Given the description of an element on the screen output the (x, y) to click on. 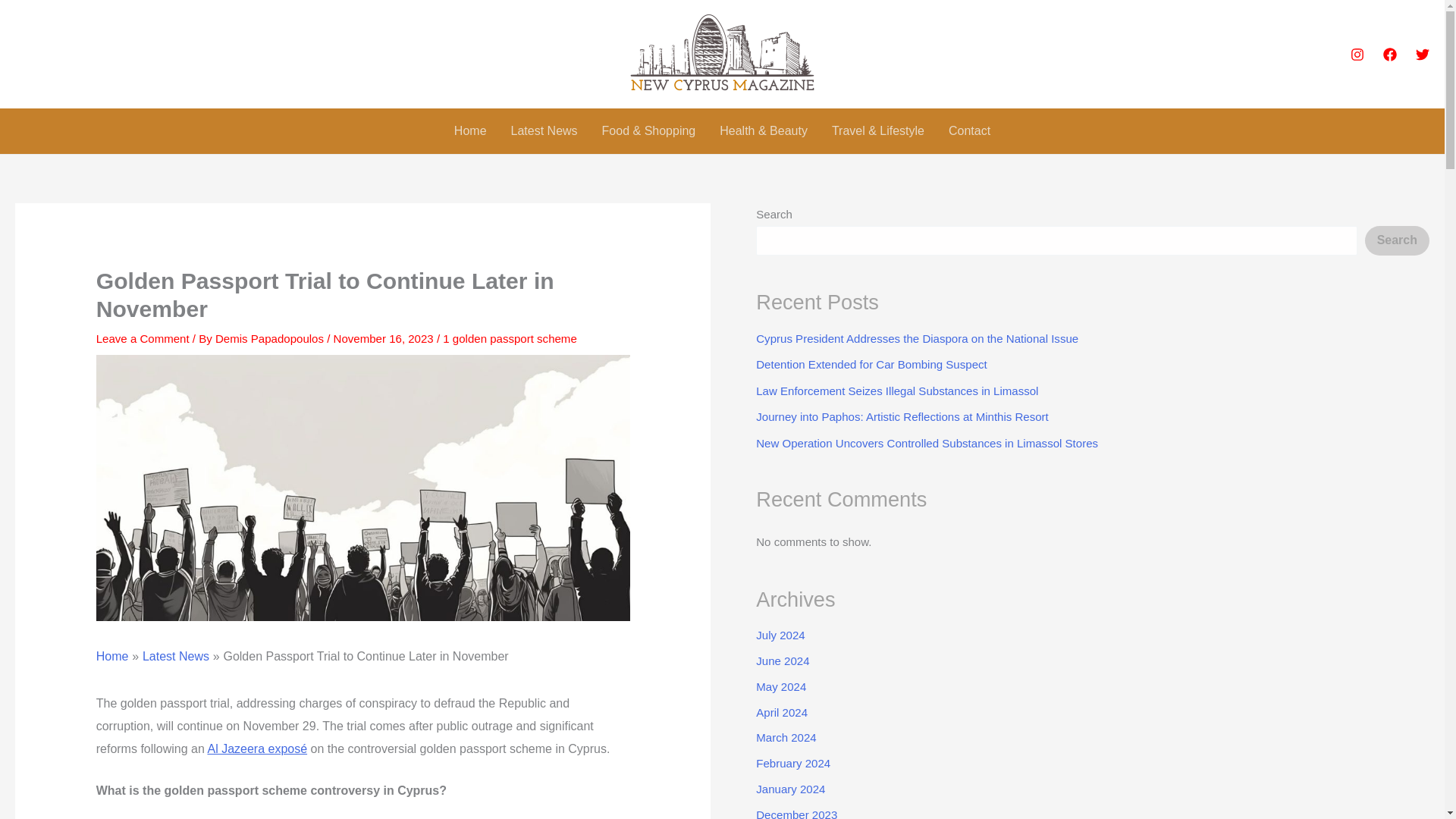
Home (112, 656)
View all posts by Demis Papadopoulos (270, 338)
Contact (969, 130)
Latest News (544, 130)
Home (470, 130)
Leave a Comment (142, 338)
Demis Papadopoulos (270, 338)
Search (1397, 240)
1 golden passport scheme (509, 338)
